Given the description of an element on the screen output the (x, y) to click on. 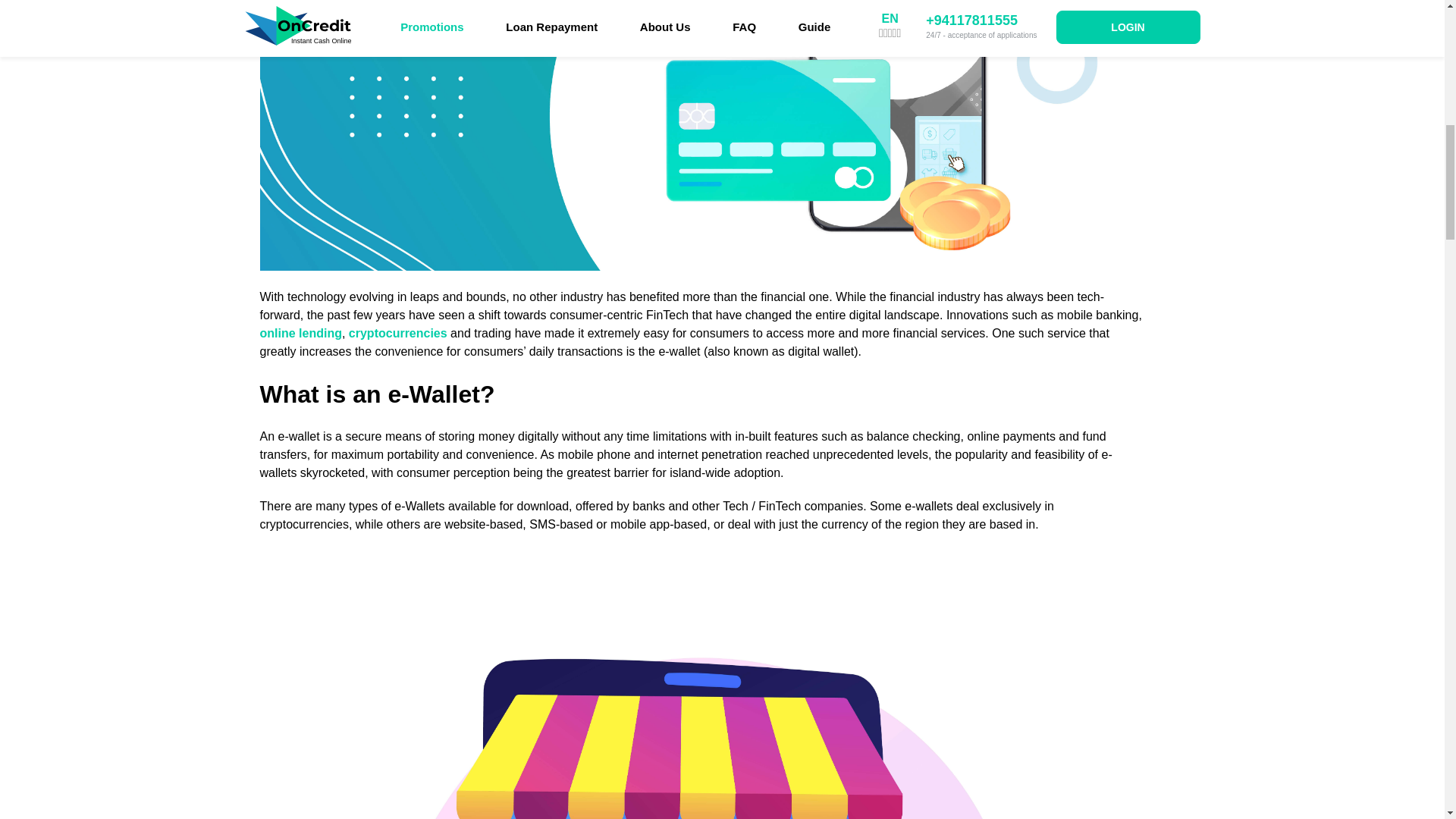
cryptocurrencies (397, 332)
online lending (299, 332)
